Given the description of an element on the screen output the (x, y) to click on. 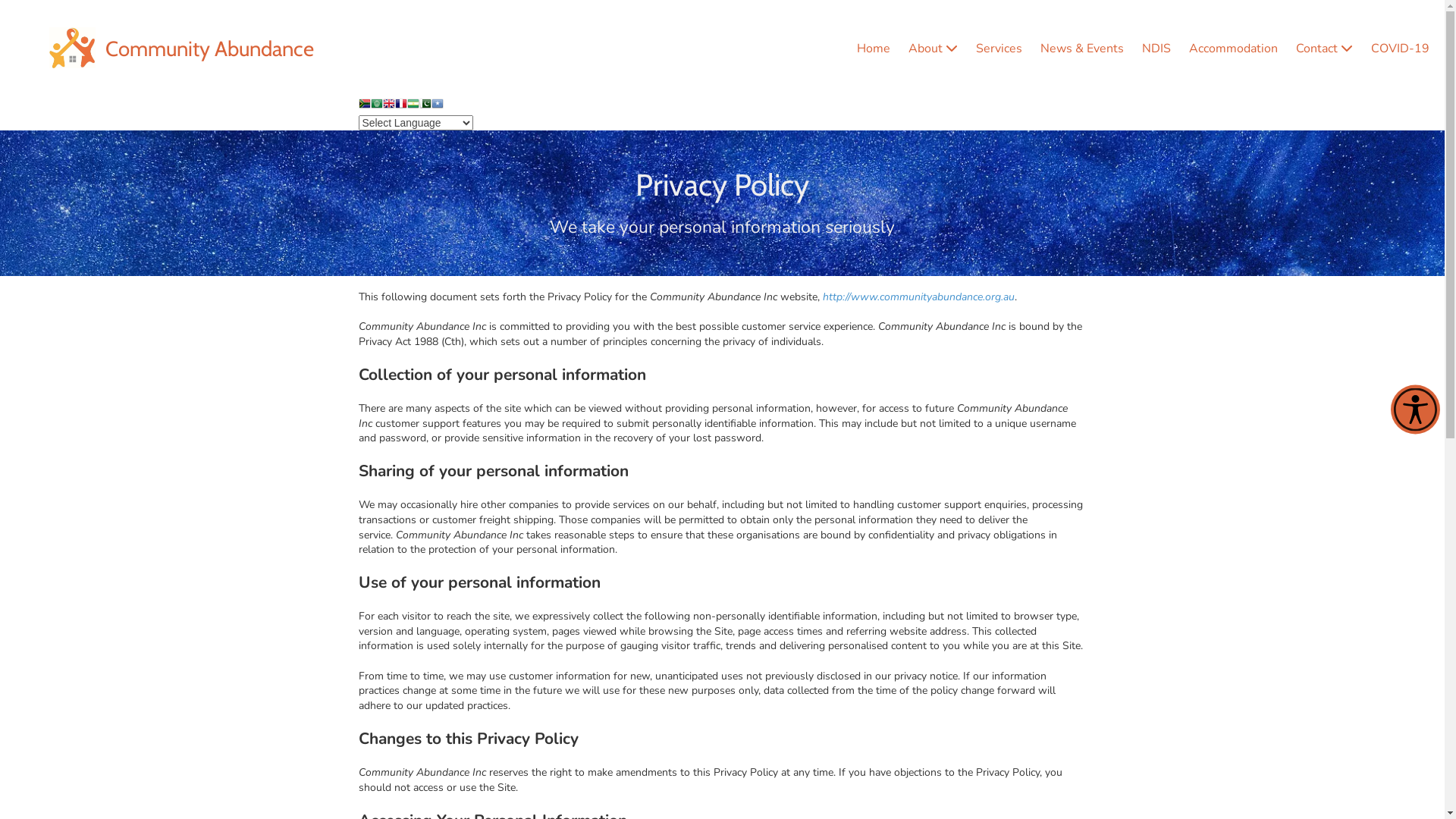
English Element type: hover (388, 106)
News & Events Element type: text (1081, 48)
Community Abundance Element type: text (209, 48)
Contact Element type: text (1323, 48)
Urdu Element type: hover (424, 106)
About Element type: text (932, 48)
Arabic Element type: hover (376, 106)
Services Element type: text (998, 48)
Zulu Element type: hover (448, 106)
French Element type: hover (400, 106)
Swahili Element type: hover (412, 106)
Accommodation Element type: text (1232, 48)
Somali Element type: hover (436, 106)
NDIS Element type: text (1155, 48)
Afrikaans Element type: hover (363, 106)
http://www.communityabundance.org.au Element type: text (917, 296)
COVID-19 Element type: text (1399, 48)
Home Element type: text (873, 48)
